Given the description of an element on the screen output the (x, y) to click on. 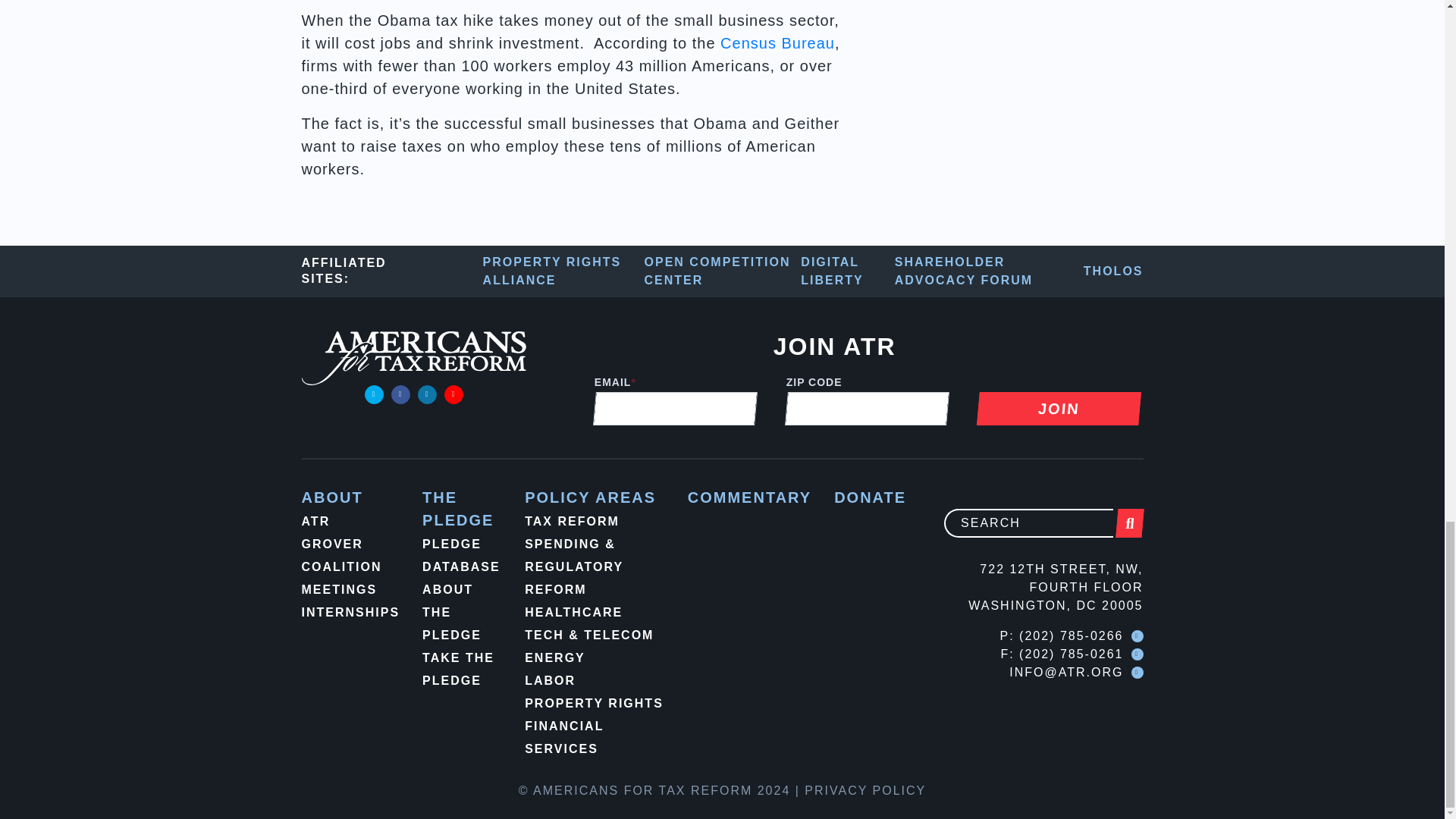
Join (1057, 408)
PROPERTY RIGHTS ALLIANCE (564, 271)
Census Bureau (777, 43)
